Given the description of an element on the screen output the (x, y) to click on. 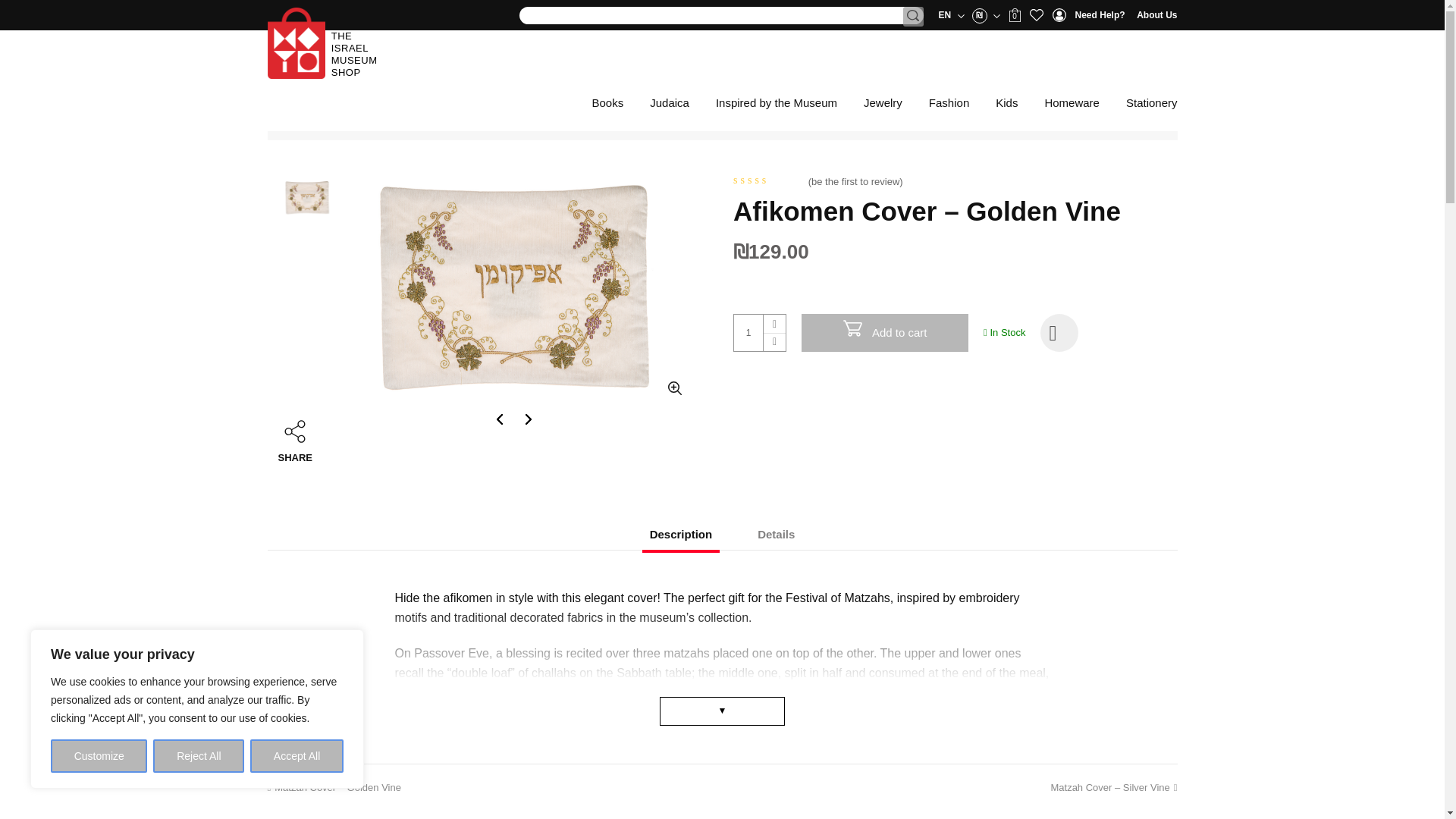
Customize (98, 756)
Need Help? (1100, 14)
Accept All (296, 756)
Reject All (198, 756)
THE ISRAEL MUSEUM SHOP (354, 53)
About Us (1156, 14)
